Given the description of an element on the screen output the (x, y) to click on. 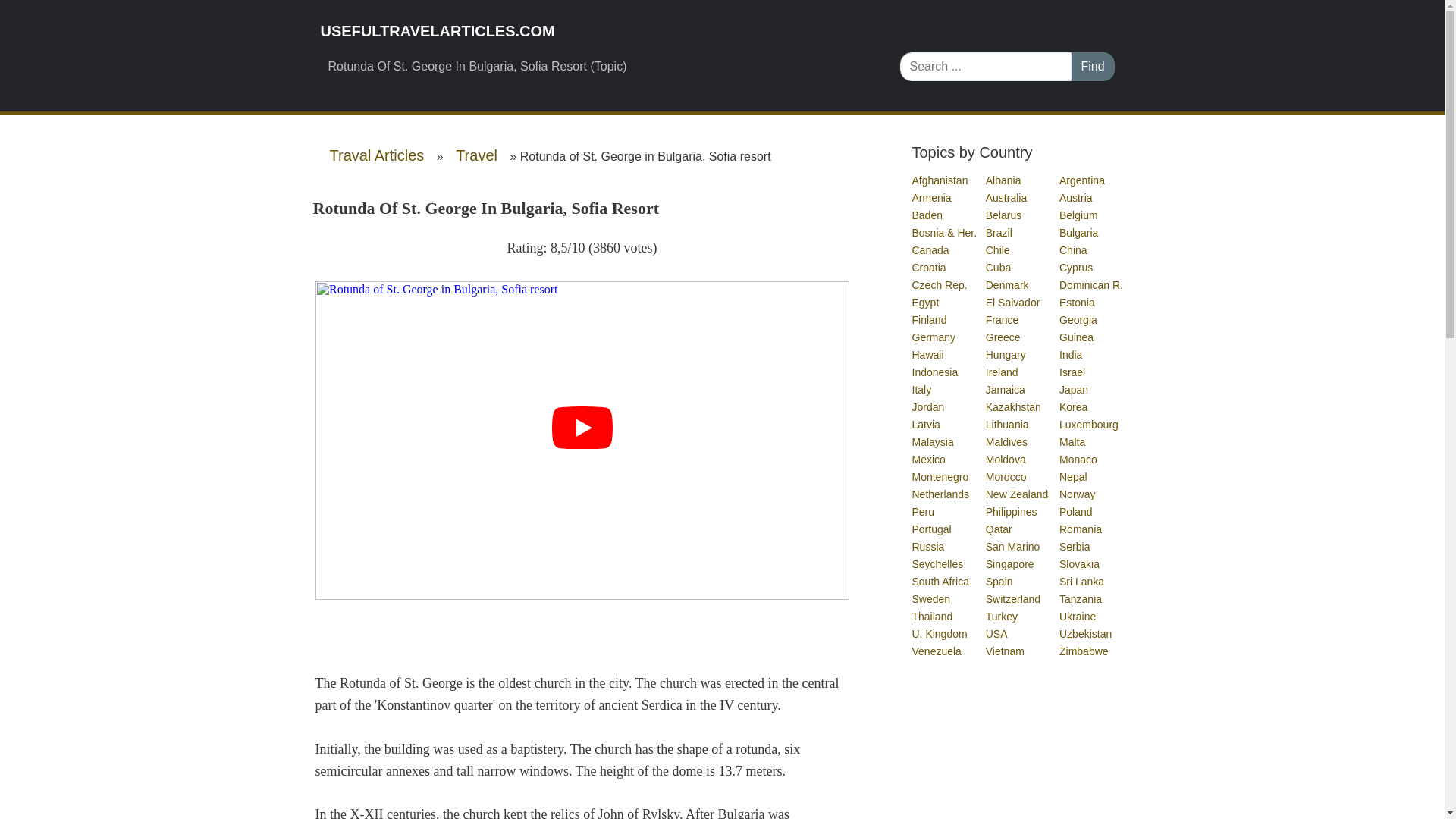
Estonia (1077, 302)
Find (1091, 66)
Afghanistan (940, 180)
France (1002, 319)
Travel (476, 155)
Dominican R. (1091, 285)
Chile (998, 250)
Albania (1004, 180)
Finland (929, 319)
Baden (927, 215)
